Given the description of an element on the screen output the (x, y) to click on. 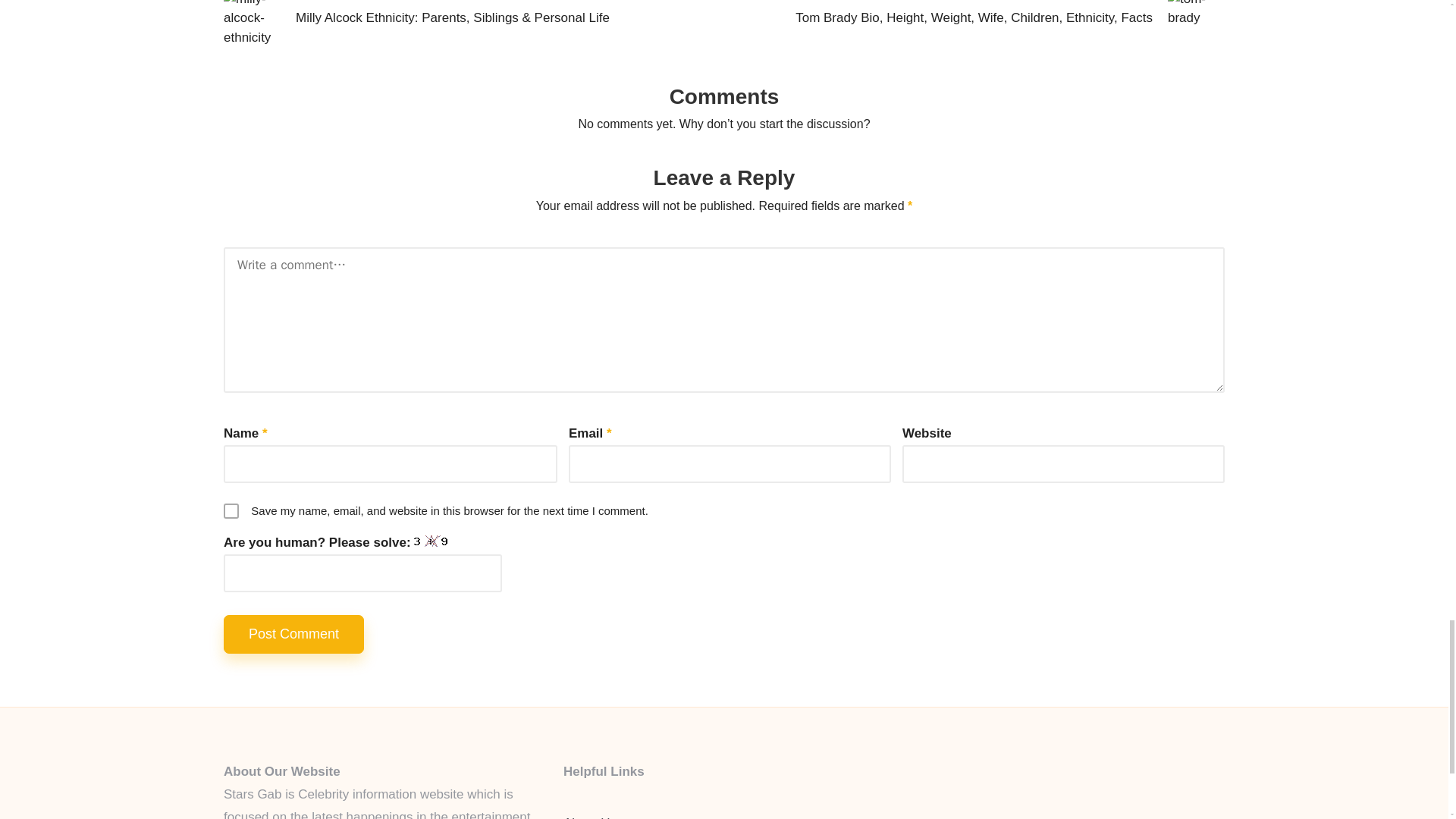
Post Comment (294, 634)
yes (231, 510)
